Given the description of an element on the screen output the (x, y) to click on. 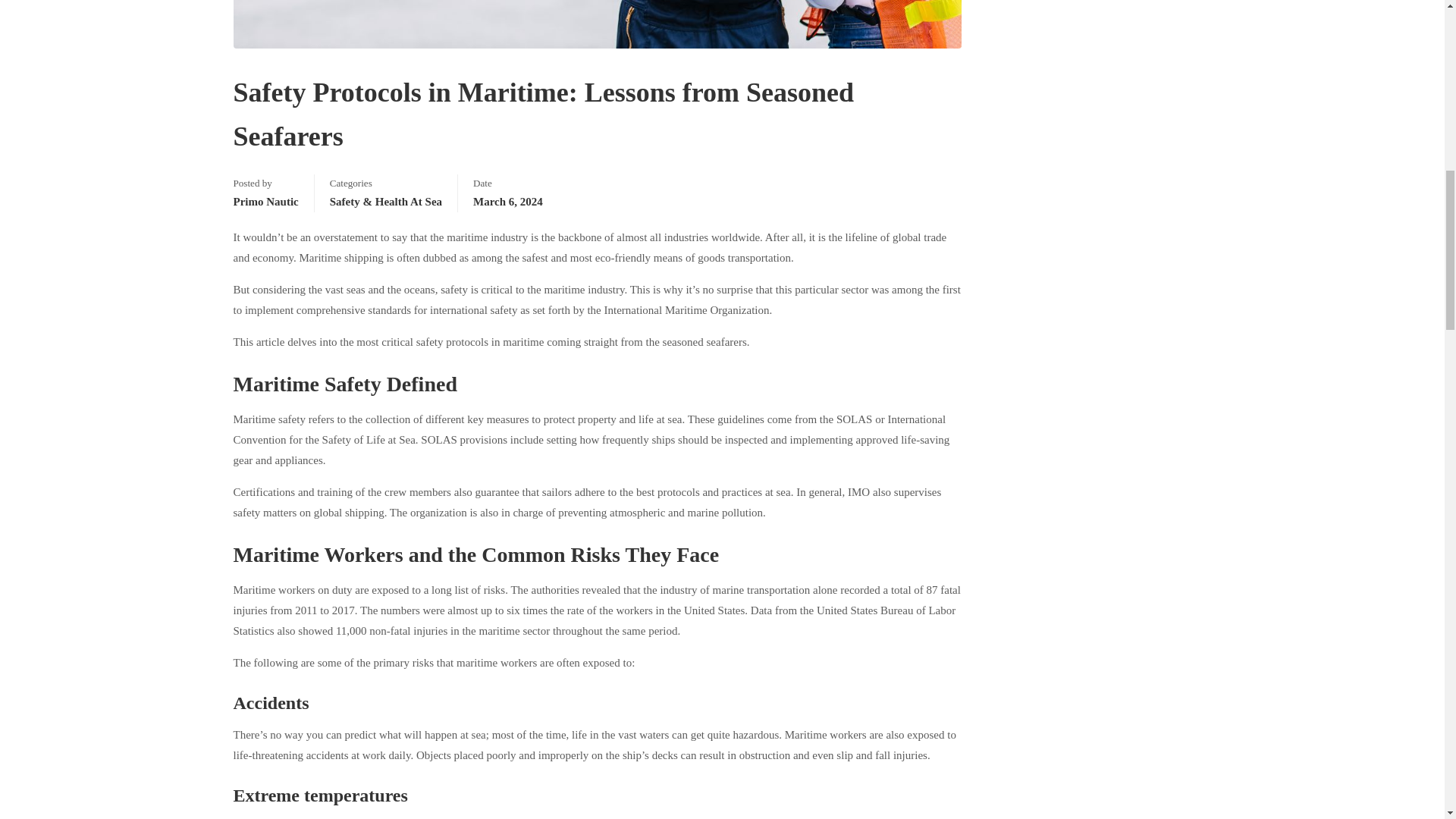
Primo Nautic (265, 201)
